Given the description of an element on the screen output the (x, y) to click on. 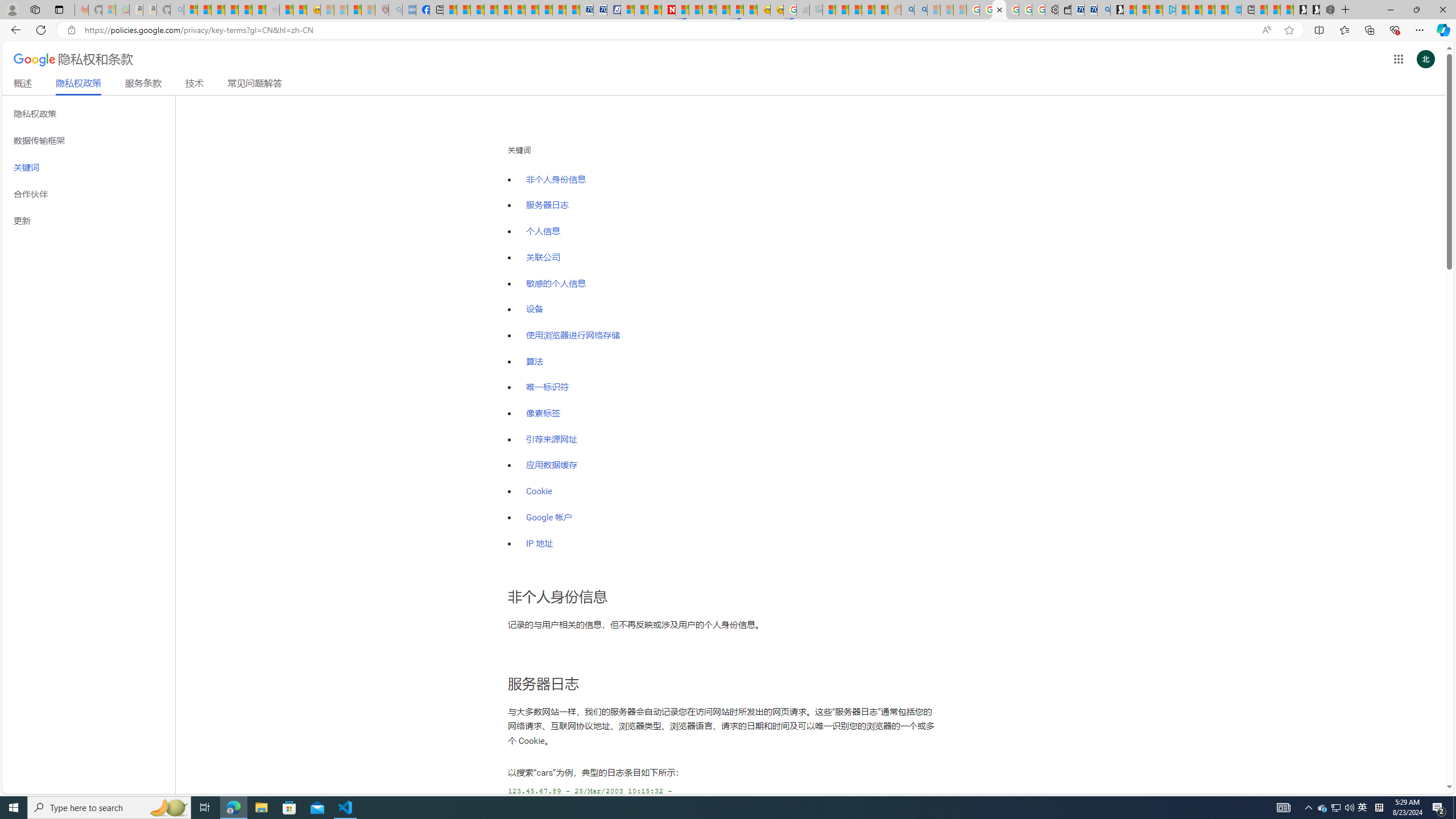
Cookie (728, 486)
The Weather Channel - MSN (218, 9)
Utah sues federal government - Search (920, 9)
